Given the description of an element on the screen output the (x, y) to click on. 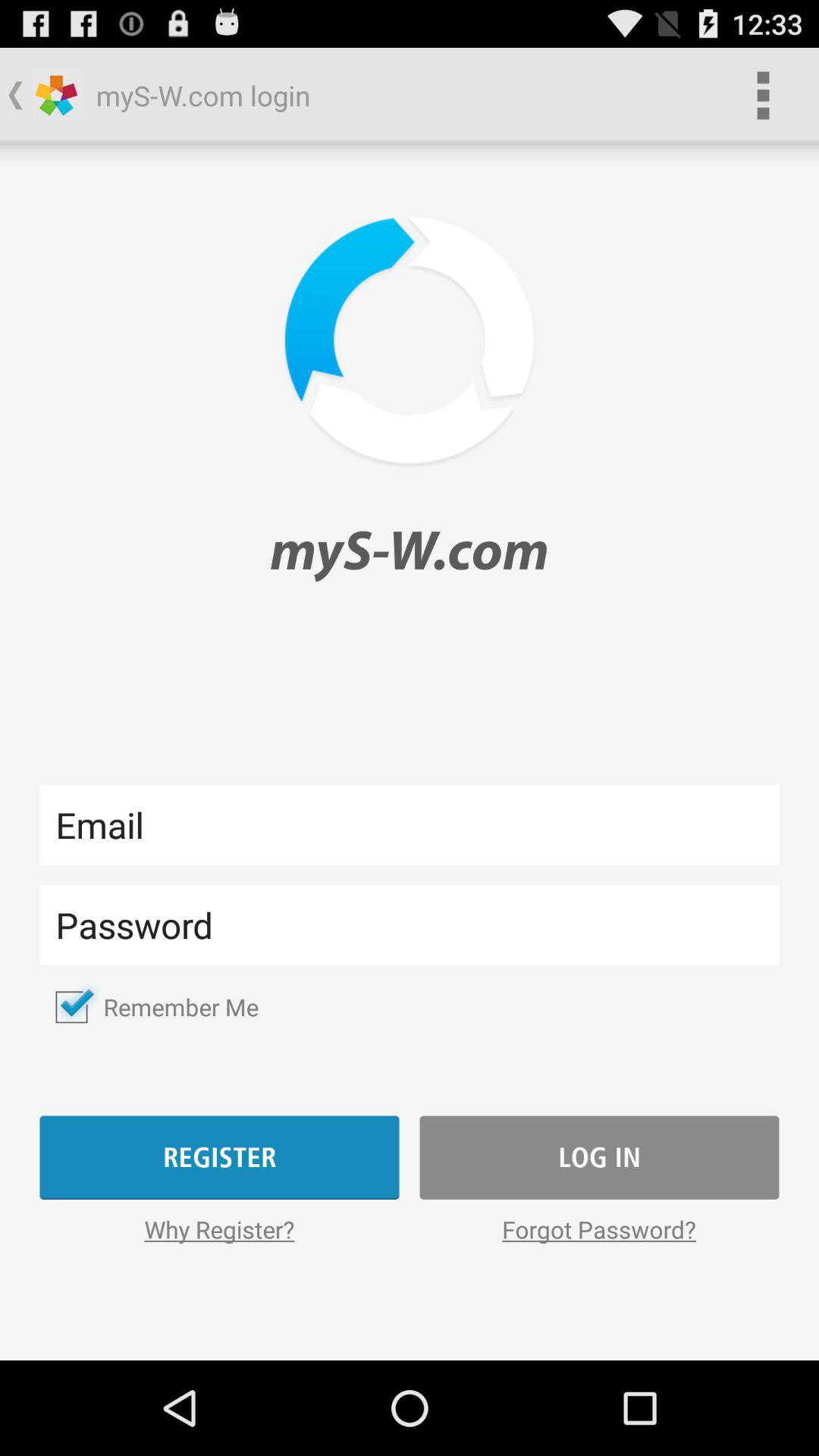
enter email address (409, 824)
